Given the description of an element on the screen output the (x, y) to click on. 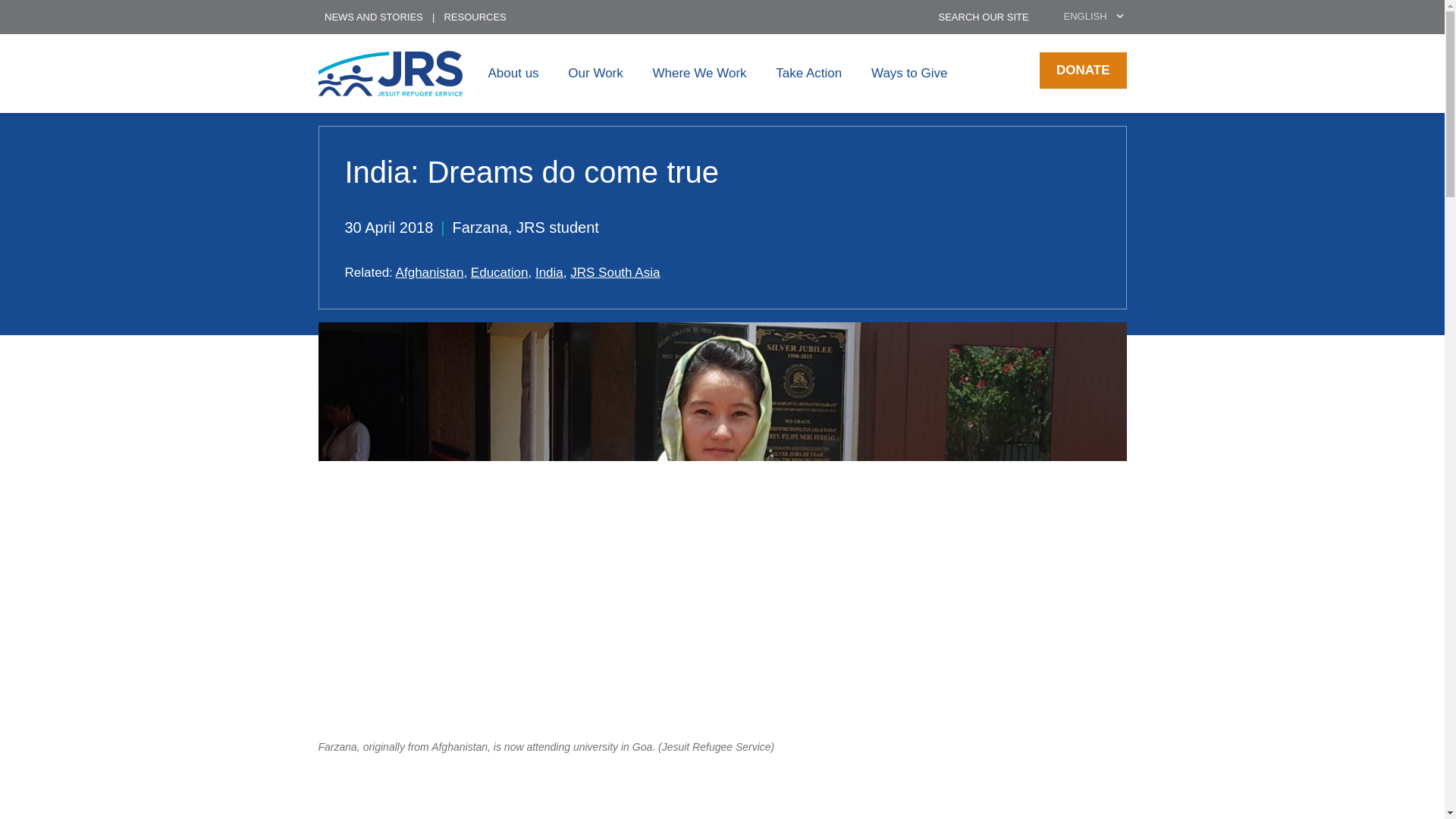
Ways to Give (908, 73)
Afghanistan (430, 272)
JRS South Asia (614, 272)
India (549, 272)
Where We Work (698, 73)
Education (499, 272)
Skip to main content (639, 4)
Our Work (595, 73)
About us (512, 73)
DONATE (1082, 70)
